Given the description of an element on the screen output the (x, y) to click on. 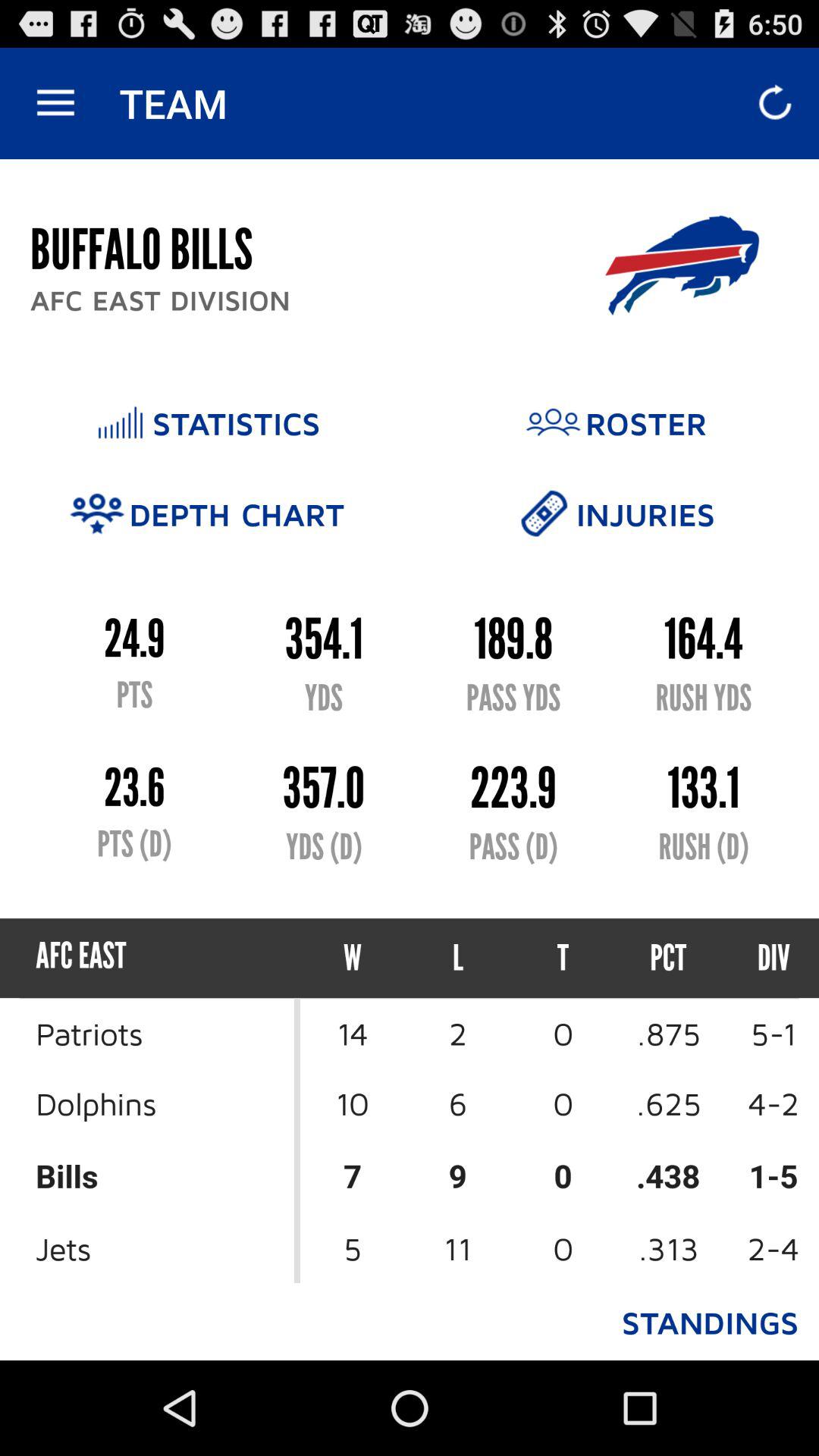
choose icon above .875 (760, 958)
